Given the description of an element on the screen output the (x, y) to click on. 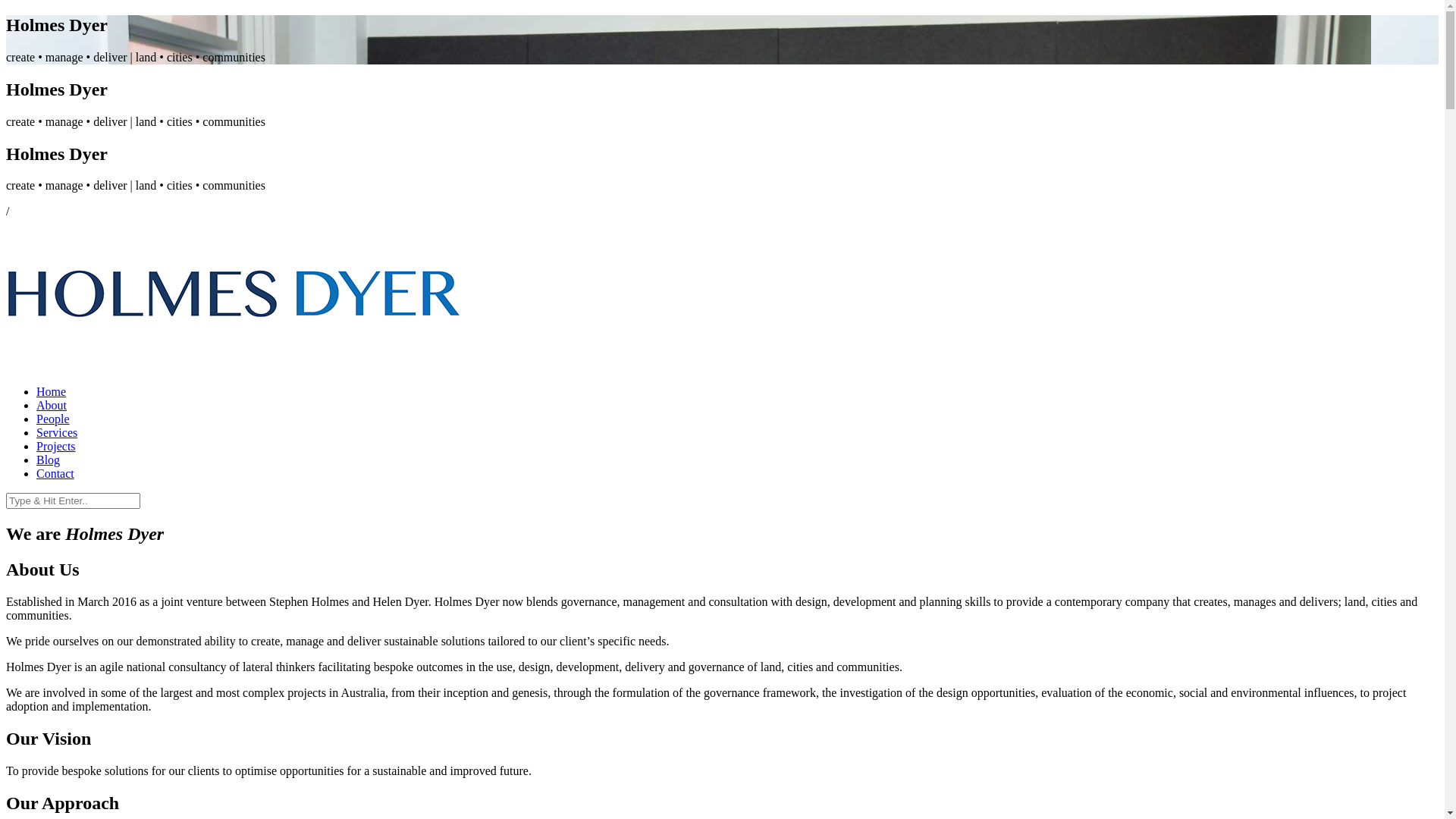
People Element type: text (52, 418)
Blog Element type: text (47, 459)
Projects Element type: text (55, 445)
About Element type: text (51, 404)
Services Element type: text (56, 432)
Home Element type: text (737, 391)
Contact Element type: text (55, 473)
